Given the description of an element on the screen output the (x, y) to click on. 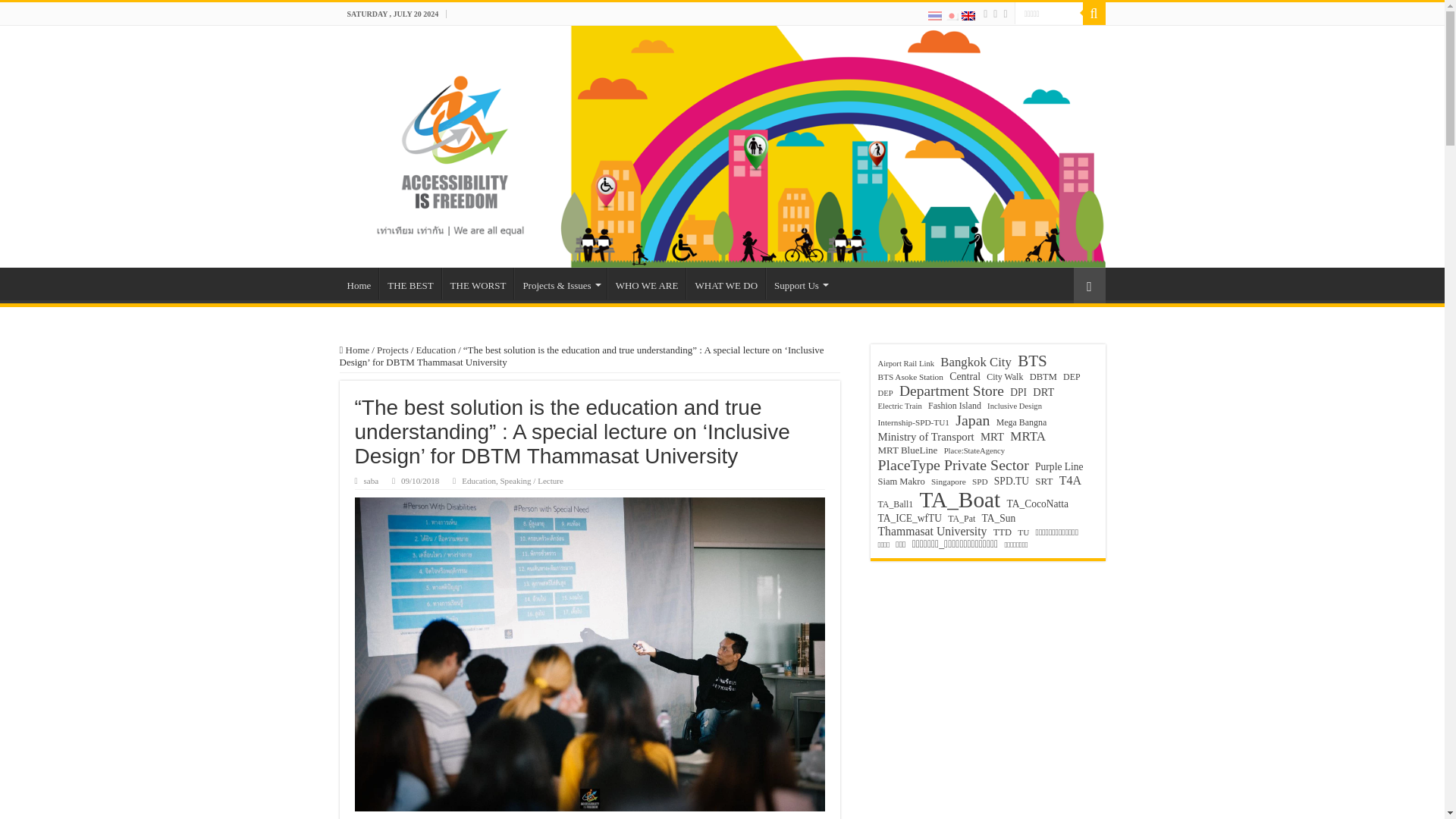
Home (358, 283)
THE WORST (477, 283)
THE BEST (409, 283)
